Given the description of an element on the screen output the (x, y) to click on. 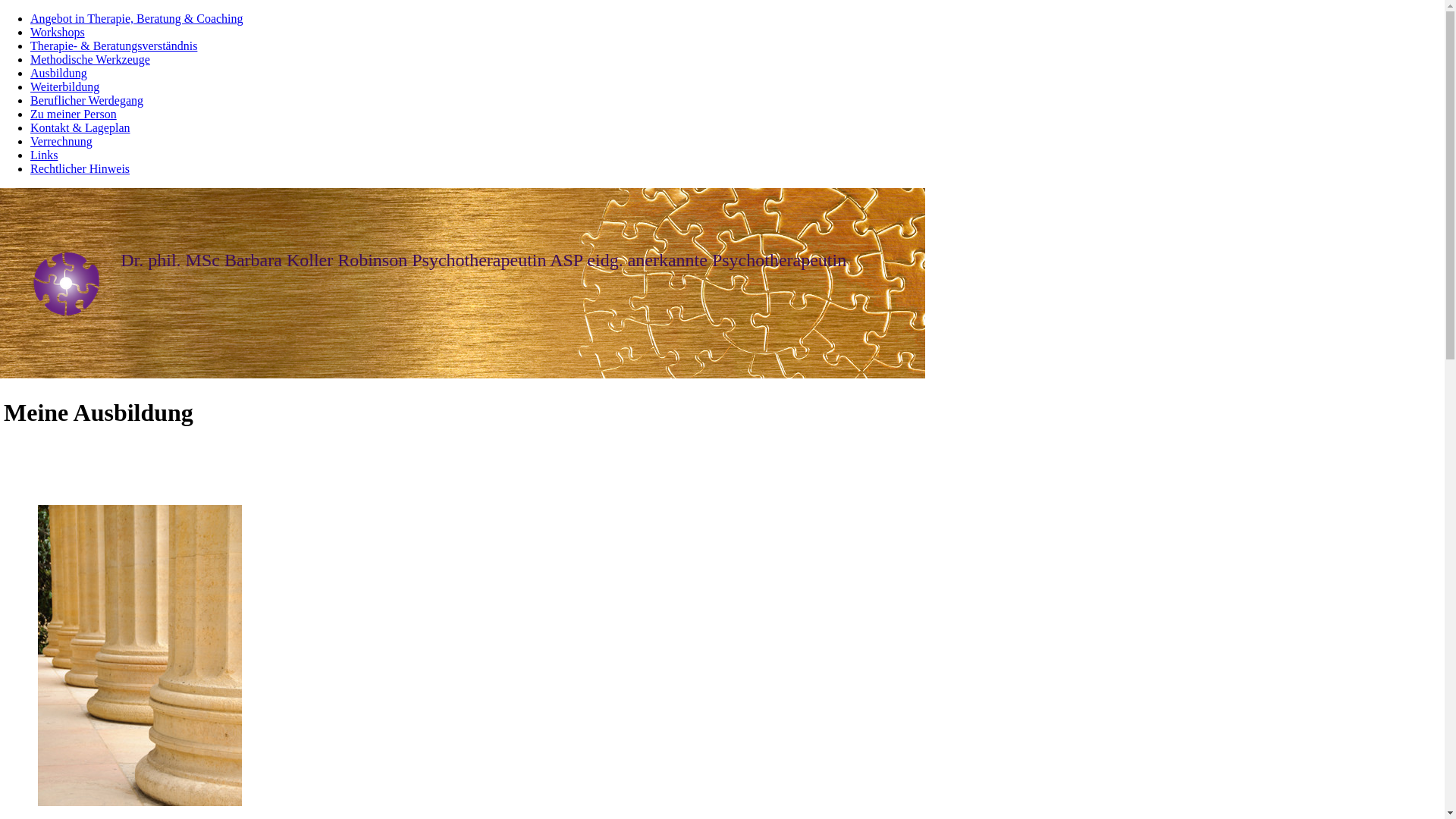
Kontakt & Lageplan Element type: text (80, 127)
Methodische Werkzeuge Element type: text (90, 59)
Angebot in Therapie, Beratung & Coaching Element type: text (136, 18)
Beruflicher Werdegang Element type: text (86, 100)
Links Element type: text (43, 154)
Zu meiner Person Element type: text (73, 113)
Rechtlicher Hinweis Element type: text (79, 168)
Ausbildung Element type: text (58, 72)
Verrechnung Element type: text (61, 140)
Workshops Element type: text (57, 31)
Weiterbildung Element type: text (64, 86)
